Given the description of an element on the screen output the (x, y) to click on. 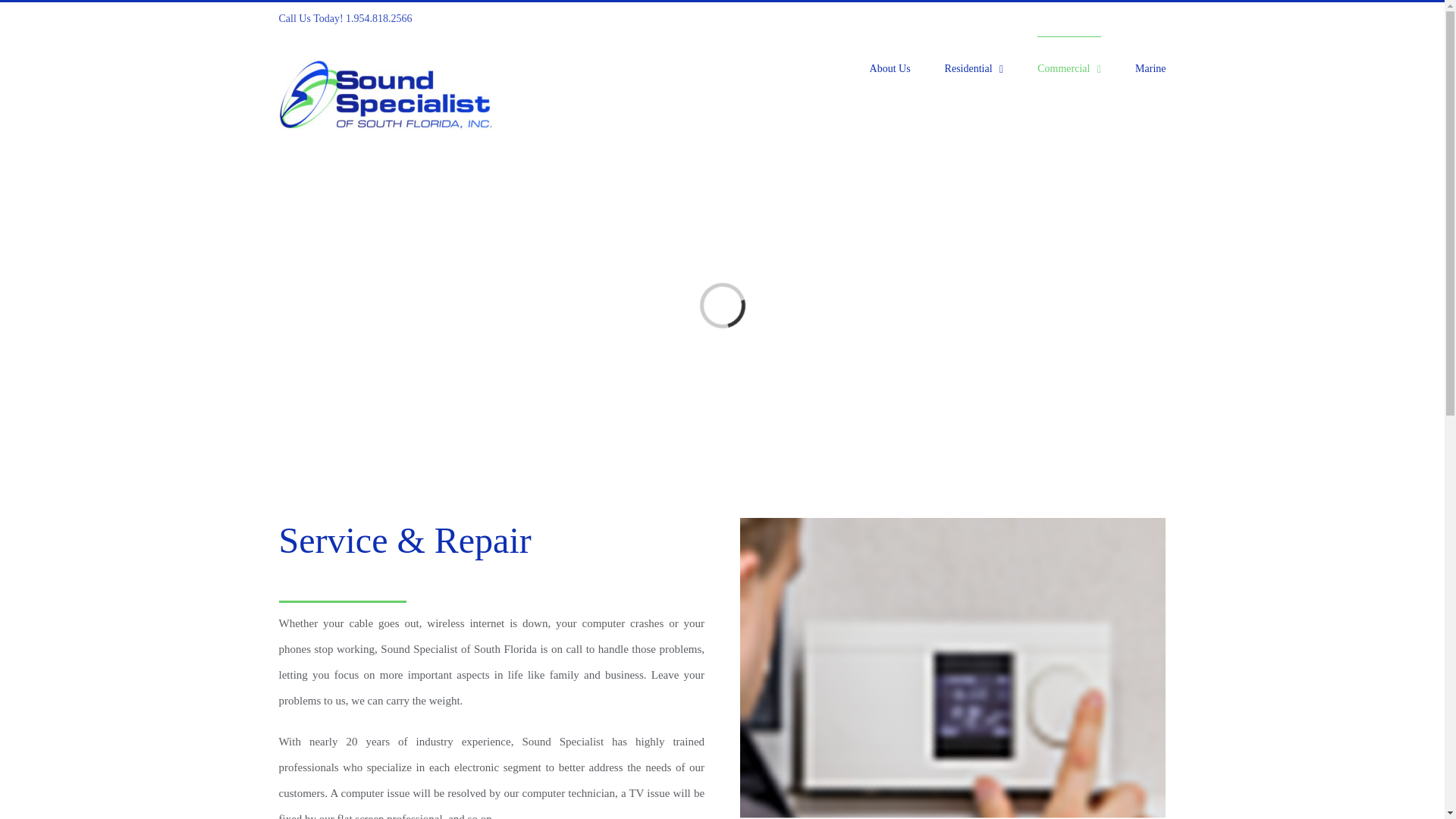
Marine (1150, 67)
Residential (974, 67)
Commercial (1068, 67)
About Us (890, 67)
